Given the description of an element on the screen output the (x, y) to click on. 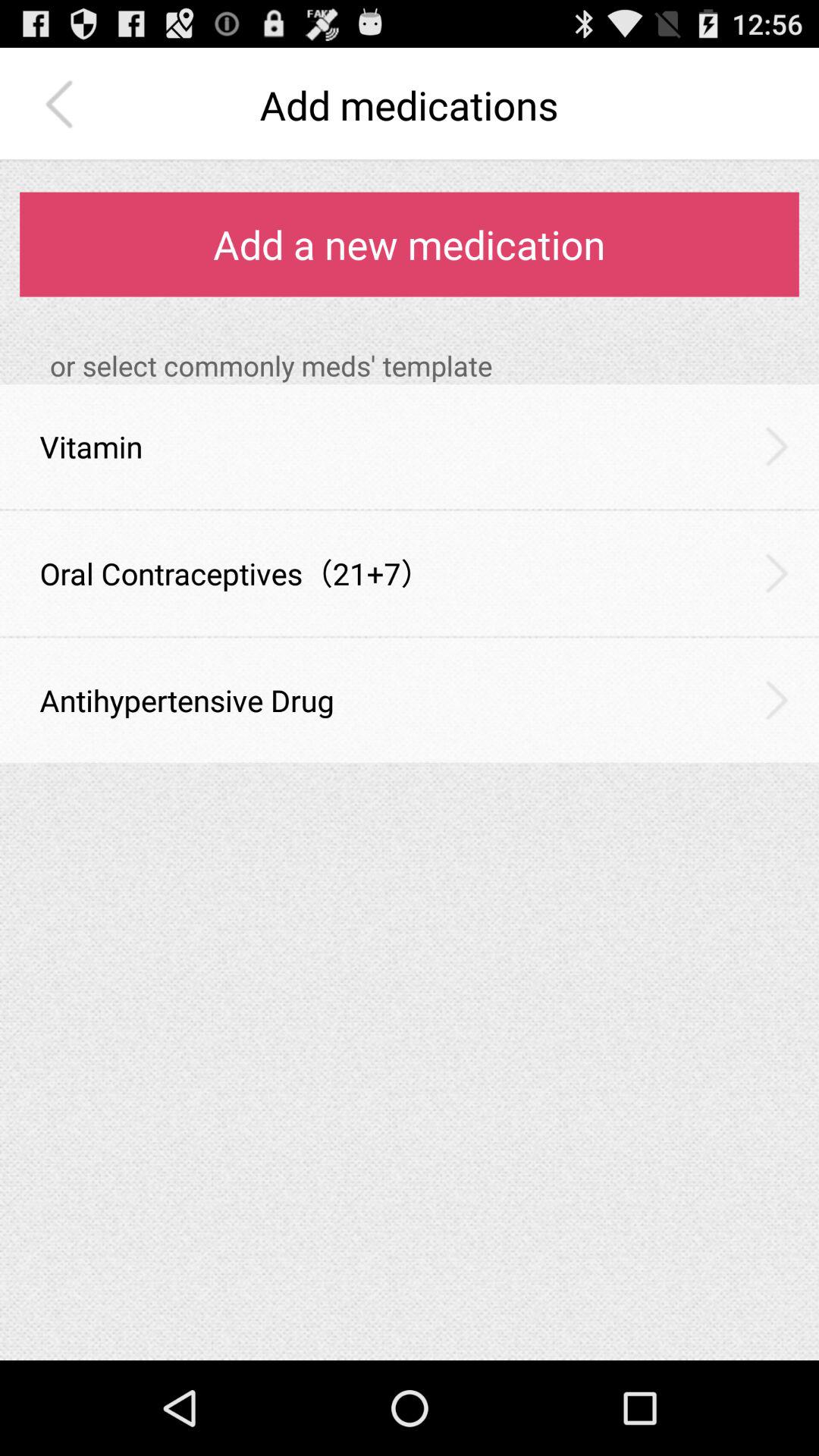
select the item next to add medications (63, 104)
